Given the description of an element on the screen output the (x, y) to click on. 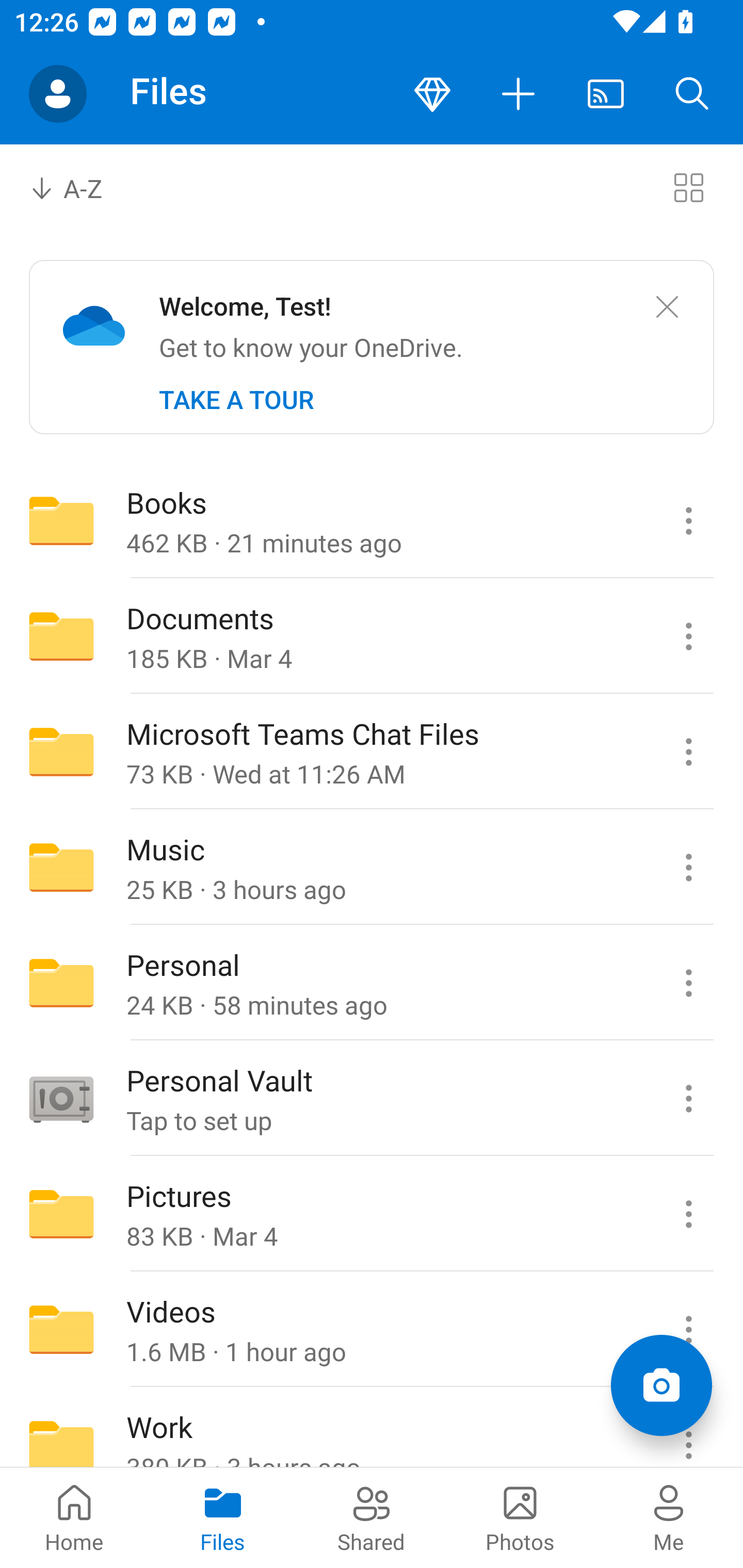
Account switcher (57, 93)
Cast. Disconnected (605, 93)
Premium button (432, 93)
More actions button (518, 93)
Search button (692, 93)
A-Z Sort by combo box, sort by name, A to Z (80, 187)
Switch to tiles view (688, 187)
Close (667, 307)
TAKE A TOUR (236, 399)
Books commands (688, 520)
Folder Documents 185 KB · Mar 4 Documents commands (371, 636)
Documents commands (688, 636)
Microsoft Teams Chat Files commands (688, 751)
Folder Music 25 KB · 3 hours ago Music commands (371, 867)
Music commands (688, 867)
Personal commands (688, 983)
Personal Vault commands (688, 1099)
Folder Pictures 83 KB · Mar 4 Pictures commands (371, 1214)
Pictures commands (688, 1214)
Folder Videos 1.6 MB · 1 hour ago Videos commands (371, 1329)
Videos commands (688, 1329)
Add items Scan (660, 1385)
Folder Work 380 KB · 3 hours ago Work commands (371, 1427)
Work commands (688, 1427)
Home pivot Home (74, 1517)
Shared pivot Shared (371, 1517)
Photos pivot Photos (519, 1517)
Me pivot Me (668, 1517)
